Given the description of an element on the screen output the (x, y) to click on. 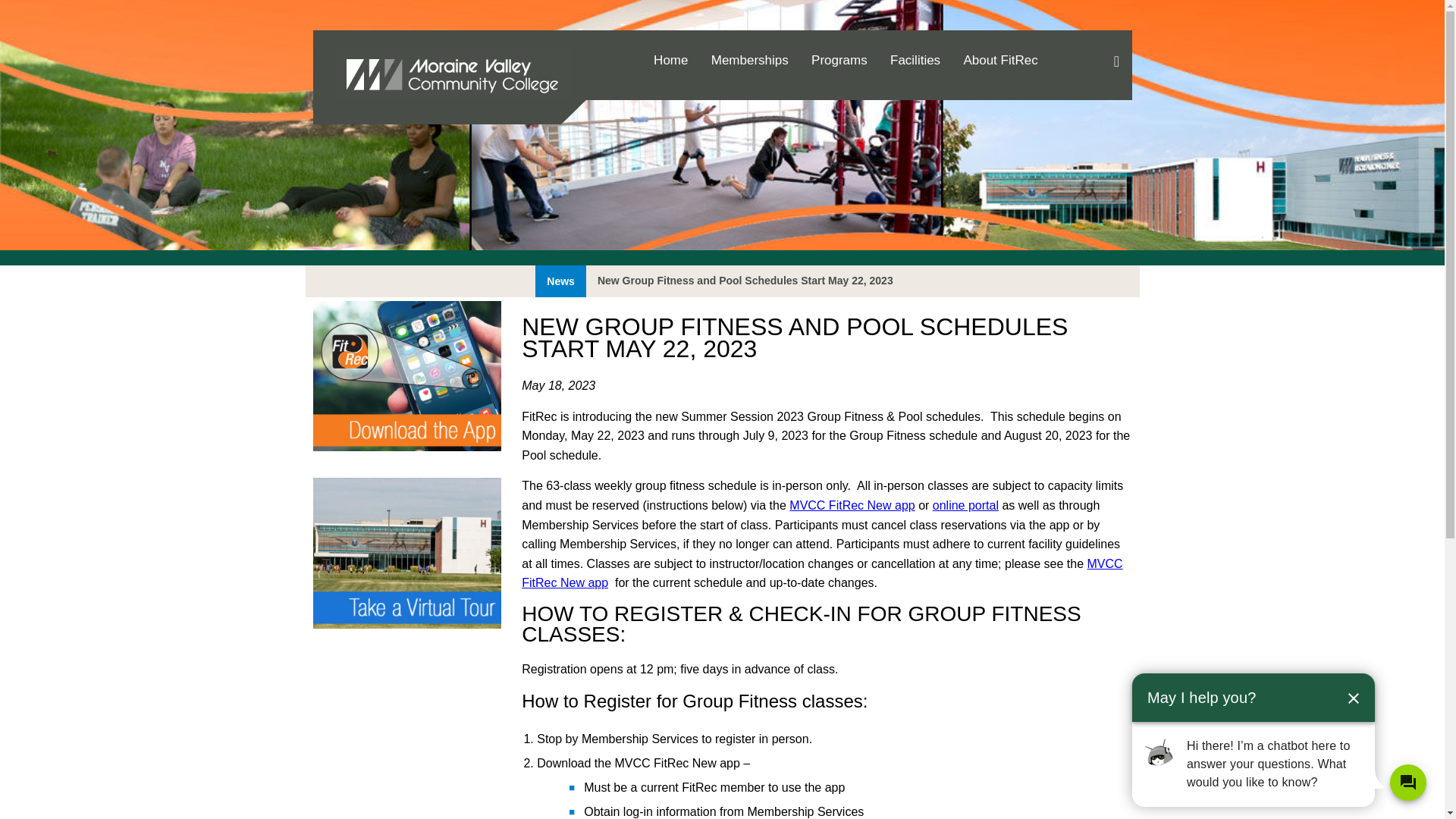
Memberships (749, 60)
Facilities (914, 60)
About FitRec (999, 60)
Programs (839, 60)
Home (671, 60)
